Given the description of an element on the screen output the (x, y) to click on. 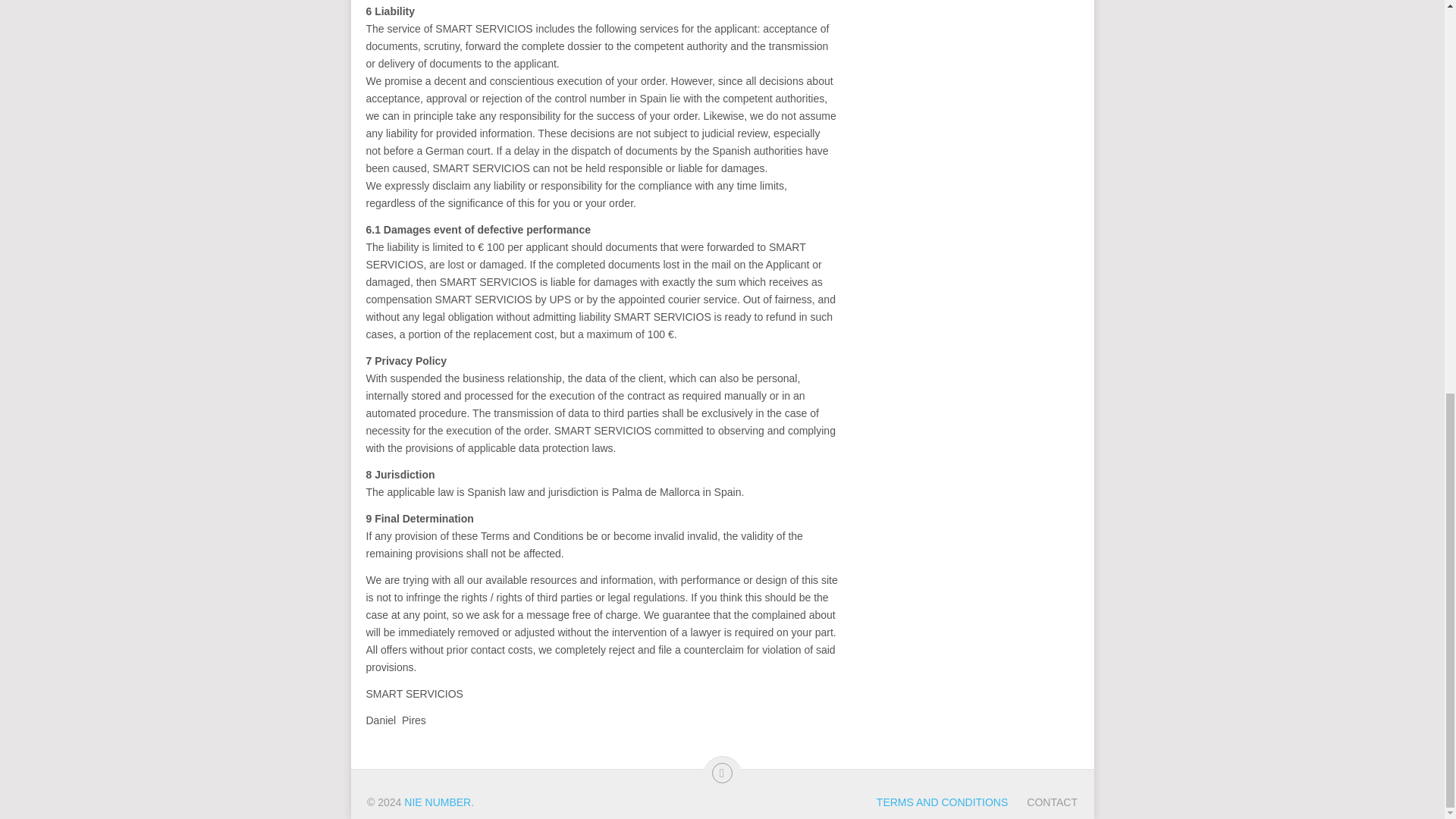
CONTACT (1042, 802)
NIE NUMBER (437, 802)
get your NIE number (437, 802)
TERMS AND CONDITIONS (941, 802)
